Given the description of an element on the screen output the (x, y) to click on. 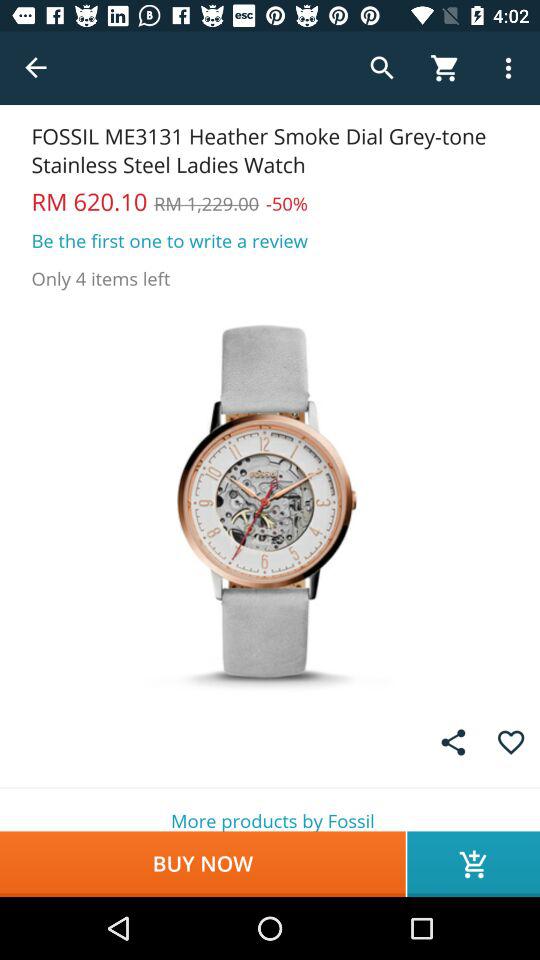
select picture (269, 500)
